Given the description of an element on the screen output the (x, y) to click on. 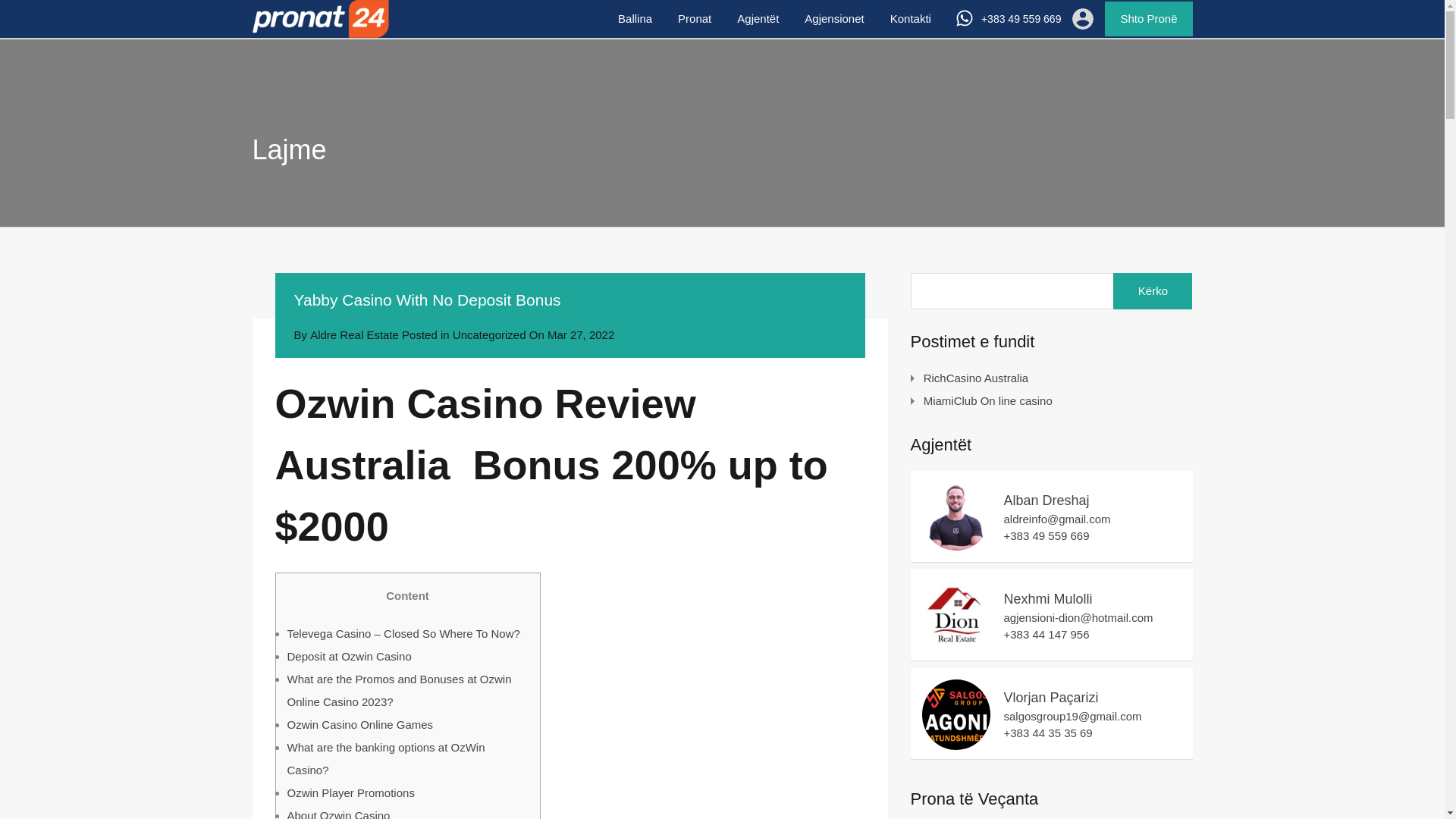
Pronat24 (319, 30)
Agjensionet (834, 18)
What are the banking options at OzWin Casino? (385, 757)
Ozwin Player Promotions (349, 791)
Ozwin Casino Online Games (359, 723)
Uncategorized (488, 333)
What are the Promos and Bonuses at Ozwin Online Casino 2023? (398, 689)
Nexhmi Mulolli (955, 641)
Alban Dreshaj (955, 543)
Pronat (694, 18)
Ballina (635, 18)
About Ozwin Casino (338, 813)
Deposit at Ozwin Casino (348, 655)
Kontakti (910, 18)
